Given the description of an element on the screen output the (x, y) to click on. 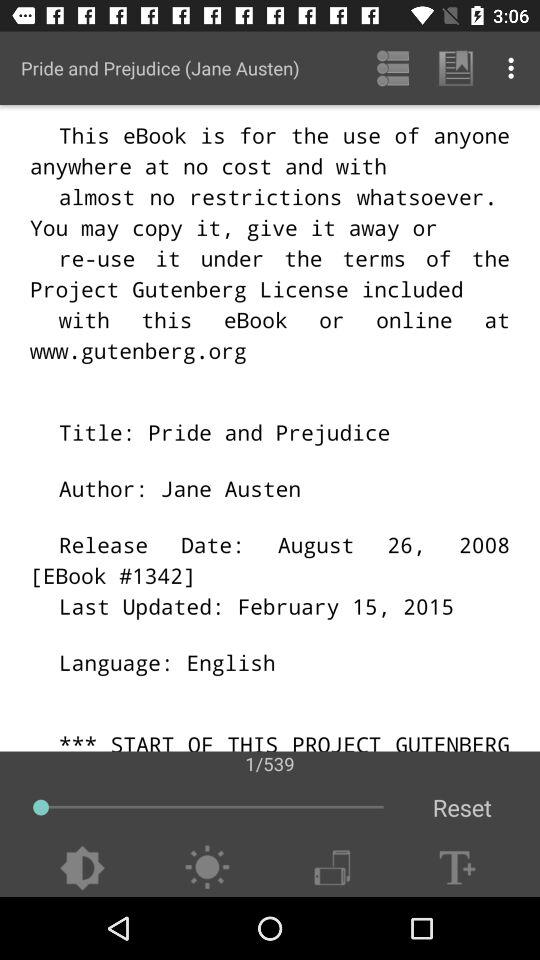
choose pride and prejudice item (160, 67)
